Given the description of an element on the screen output the (x, y) to click on. 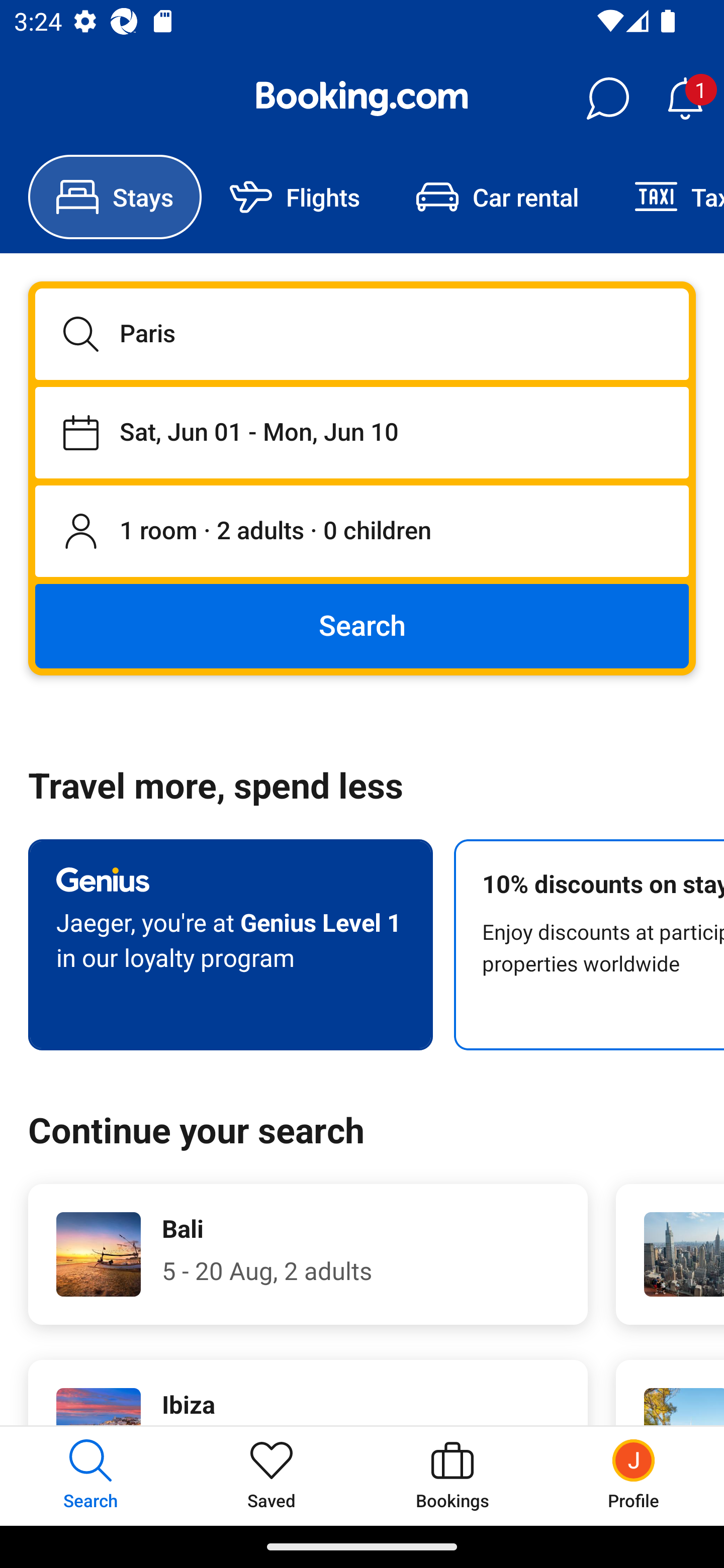
Messages (607, 98)
Notifications (685, 98)
Stays (114, 197)
Flights (294, 197)
Car rental (497, 197)
Taxi (665, 197)
Paris (361, 333)
Staying from Sat, Jun 01 until Mon, Jun 10 (361, 432)
1 room, 2 adults, 0 children (361, 531)
Search (361, 625)
Bali 5 - 20 Aug, 2 adults (307, 1253)
Saved (271, 1475)
Bookings (452, 1475)
Profile (633, 1475)
